Given the description of an element on the screen output the (x, y) to click on. 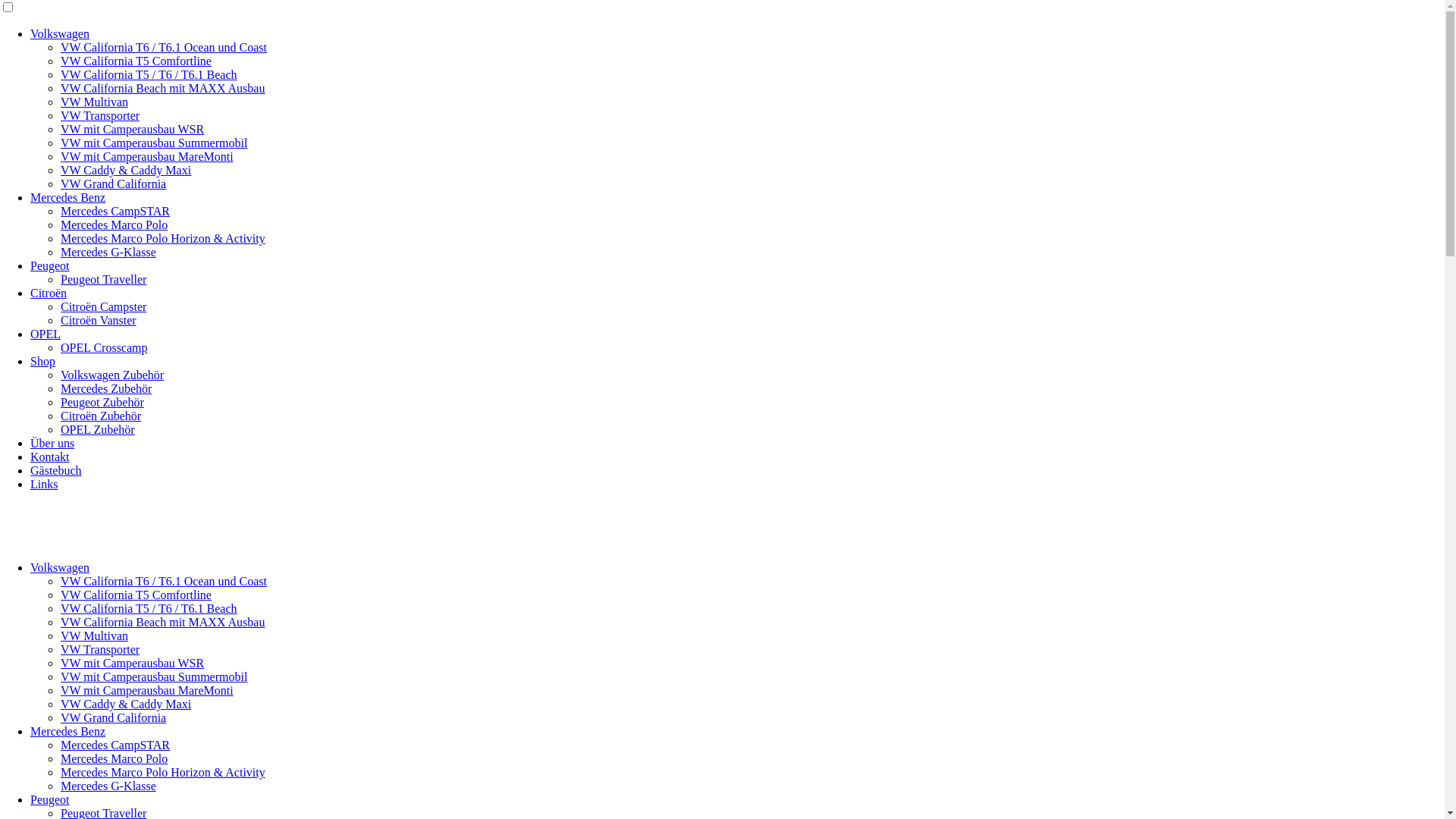
Mercedes Benz Element type: text (67, 730)
OPEL Crosscamp Element type: text (103, 347)
VW California Beach mit MAXX Ausbau Element type: text (162, 87)
Volkswagen Element type: text (59, 567)
Mercedes Marco Polo Horizon & Activity Element type: text (162, 771)
OPEL Element type: text (45, 333)
VW Grand California Element type: text (113, 717)
Mercedes Marco Polo Element type: text (113, 224)
Shop Element type: text (42, 360)
Peugeot Element type: text (49, 799)
VW California Beach mit MAXX Ausbau Element type: text (162, 621)
VW California T5 Comfortline Element type: text (135, 594)
Mercedes Benz Element type: text (67, 197)
VW Caddy & Caddy Maxi Element type: text (125, 169)
VW California T6 / T6.1 Ocean und Coast Element type: text (163, 46)
Mercedes Marco Polo Element type: text (113, 758)
Peugeot Traveller Element type: text (103, 279)
Mercedes G-Klasse Element type: text (108, 785)
VW Multivan Element type: text (94, 101)
VW mit Camperausbau MareMonti Element type: text (146, 690)
Links Element type: text (43, 483)
VW Transporter Element type: text (99, 649)
VW mit Camperausbau MareMonti Element type: text (146, 156)
VW California T6 / T6.1 Ocean und Coast Element type: text (163, 580)
Mercedes CampSTAR Element type: text (114, 210)
VW mit Camperausbau Summermobil Element type: text (153, 676)
VW Grand California Element type: text (113, 183)
VW mit Camperausbau Summermobil Element type: text (153, 142)
Kontakt Element type: text (49, 456)
Volkswagen Element type: text (59, 33)
Mercedes Marco Polo Horizon & Activity Element type: text (162, 238)
VW California T5 / T6 / T6.1 Beach Element type: text (148, 74)
VW Caddy & Caddy Maxi Element type: text (125, 703)
VW Multivan Element type: text (94, 635)
Mercedes CampSTAR Element type: text (114, 744)
Mercedes G-Klasse Element type: text (108, 251)
VW mit Camperausbau WSR Element type: text (131, 128)
VW mit Camperausbau WSR Element type: text (131, 662)
Peugeot Element type: text (49, 265)
VW California T5 / T6 / T6.1 Beach Element type: text (148, 608)
VW California T5 Comfortline Element type: text (135, 60)
VW Transporter Element type: text (99, 115)
